Given the description of an element on the screen output the (x, y) to click on. 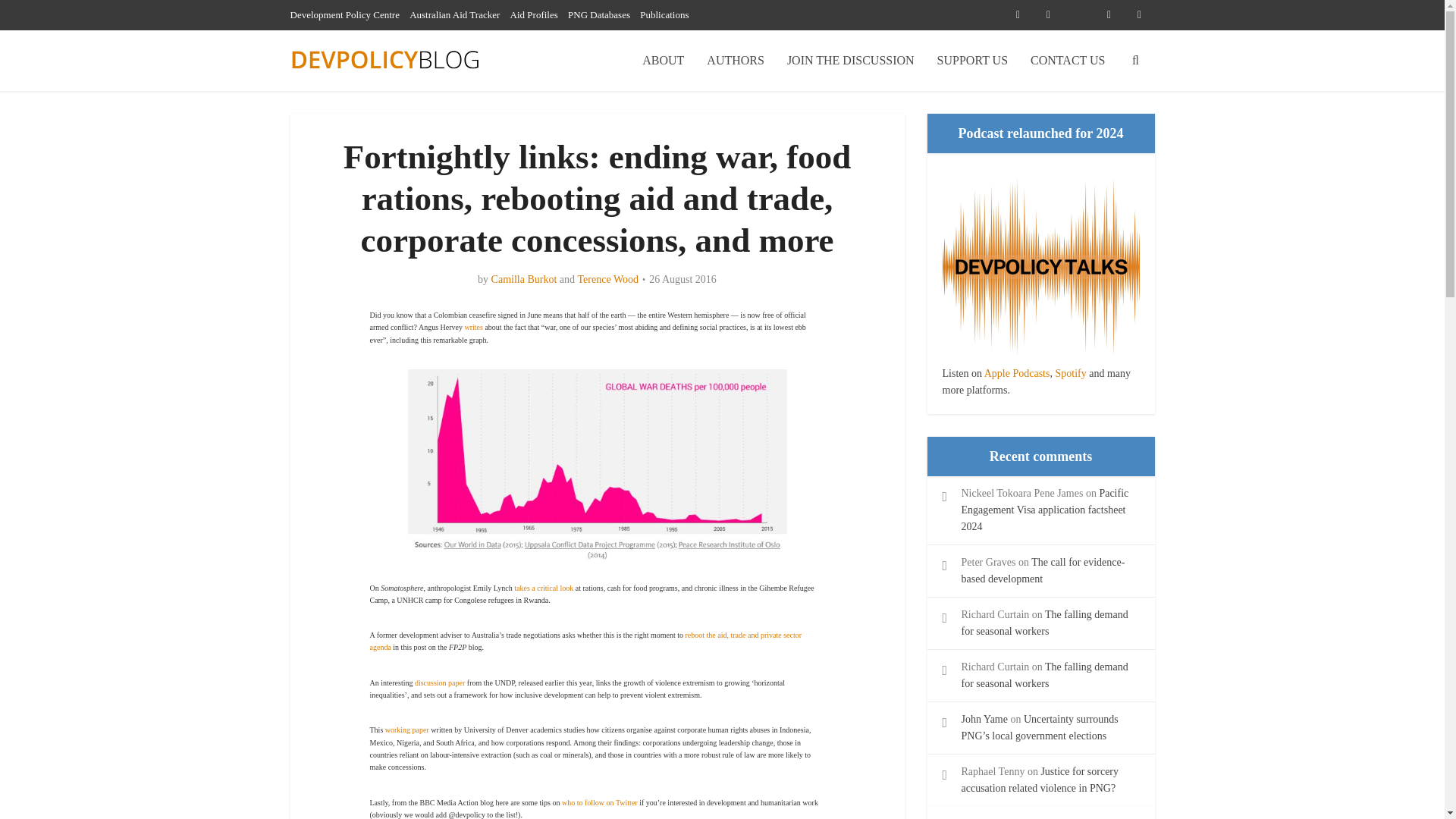
JOIN THE DISCUSSION (851, 60)
ABOUT (662, 60)
SUPPORT US (972, 60)
Terence Wood (608, 279)
Publications (664, 14)
who to follow on Twitter (599, 802)
CONTACT US (1067, 60)
takes a critical look (543, 587)
writes (472, 326)
reboot the aid, trade and private sector agenda (585, 640)
working paper (407, 729)
Development Policy Centre (343, 14)
PNG Databases (598, 14)
discussion paper (439, 682)
Camilla Burkot (524, 279)
